Given the description of an element on the screen output the (x, y) to click on. 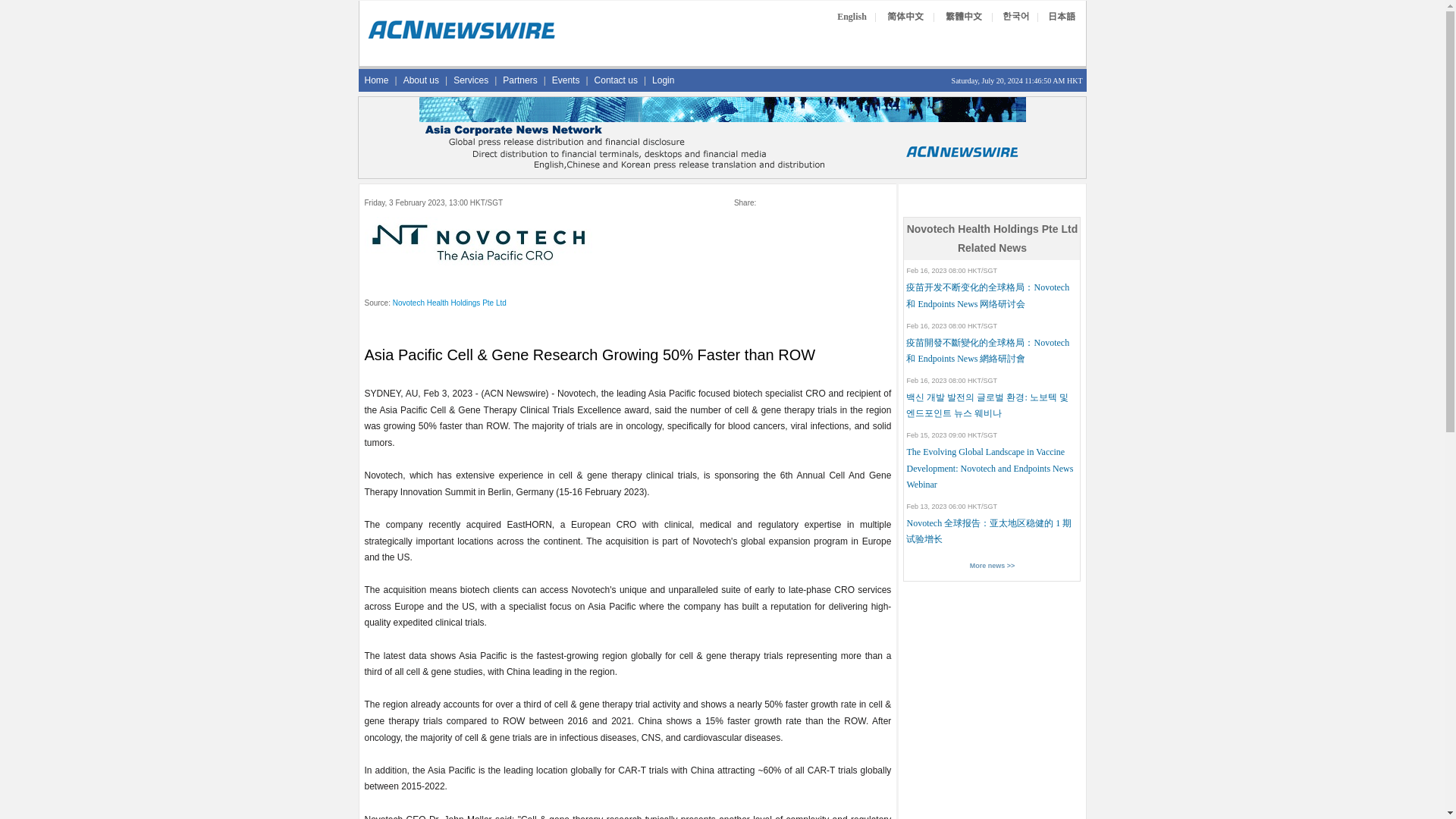
Contact us (615, 79)
Services (470, 79)
Back to Home Page (461, 37)
Japanese (1061, 16)
Login (662, 79)
About us (421, 79)
Home (376, 79)
Events (566, 79)
English (851, 16)
Login (662, 79)
Events (566, 79)
Home (376, 79)
Contact us (615, 79)
Novotech Health Holdings Pte Ltd (449, 302)
